Given the description of an element on the screen output the (x, y) to click on. 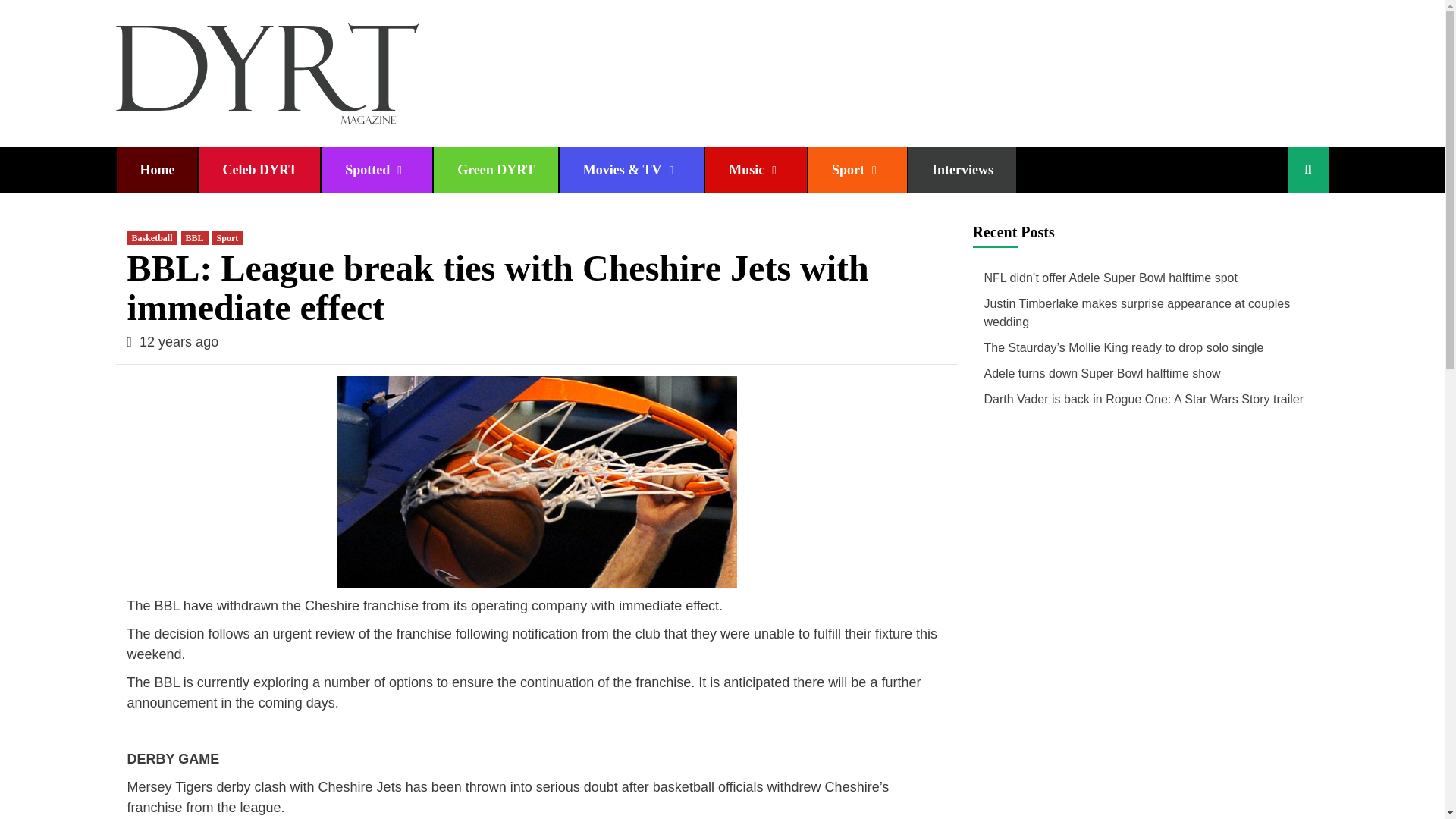
Sport (857, 170)
Music (755, 170)
Basketball (152, 237)
Search (1272, 217)
Celeb DYRT (259, 170)
Sport (227, 237)
Spotted (376, 170)
Green DYRT (495, 170)
BBL (194, 237)
Interviews (962, 170)
